Given the description of an element on the screen output the (x, y) to click on. 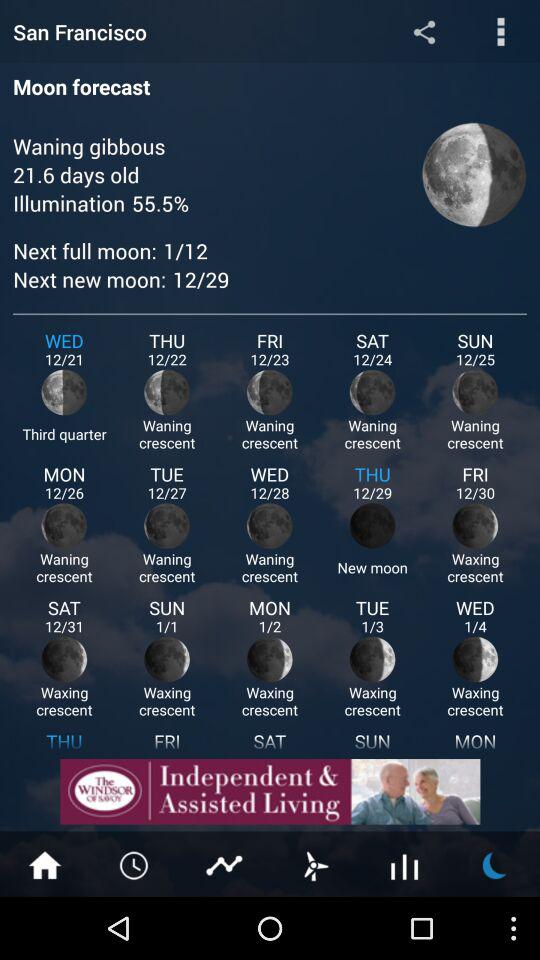
home (45, 864)
